Given the description of an element on the screen output the (x, y) to click on. 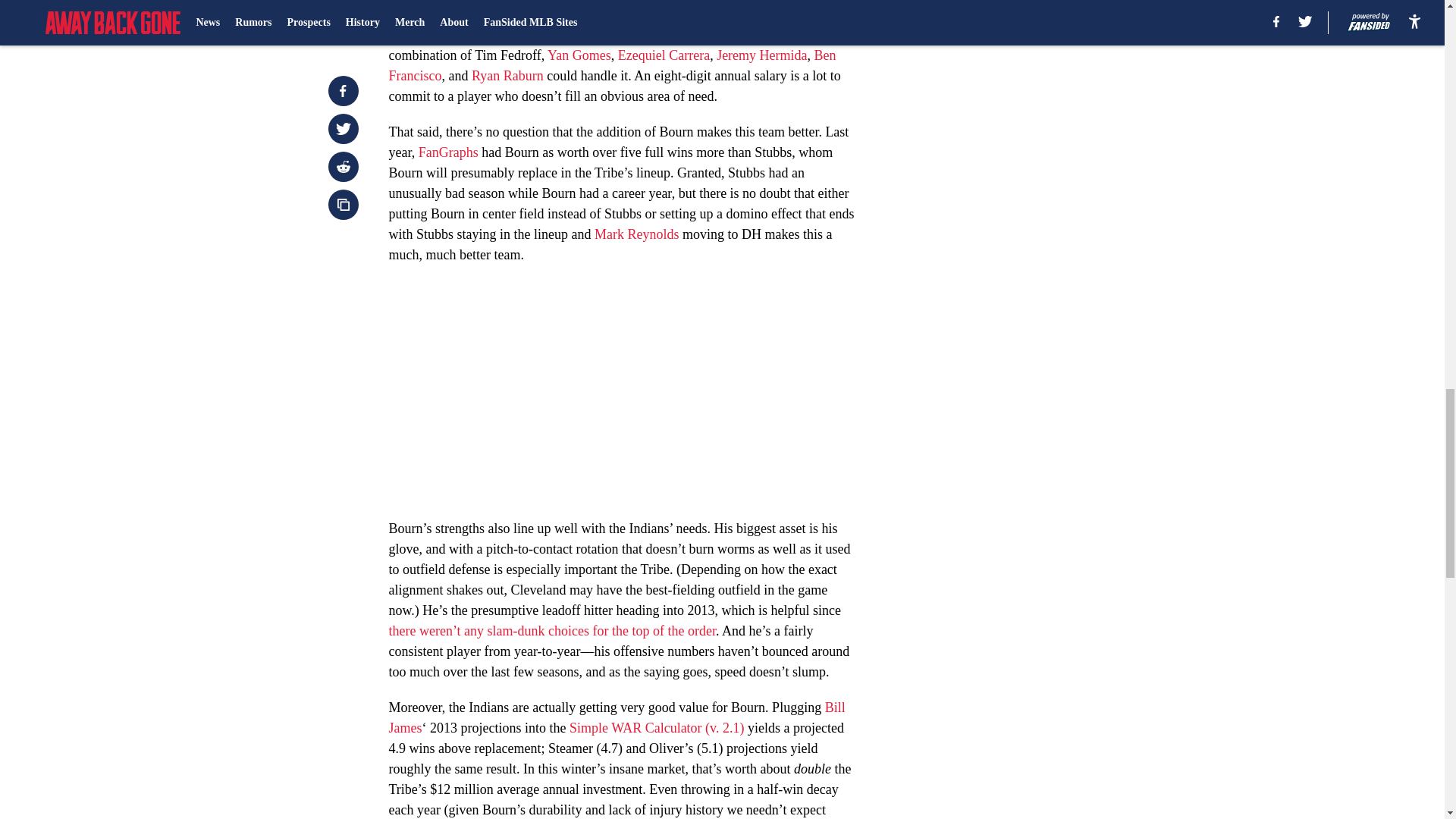
Drew Stubbs (488, 34)
FanGraphs (449, 151)
Ben Francisco (611, 65)
Ezequiel Carrera (663, 55)
Yan Gomes (579, 55)
Jeremy Hermida (761, 55)
Ryan Raburn (507, 75)
Bill James (616, 717)
Mark Reynolds (636, 233)
Nick Swisher (548, 14)
Michael Brantley (435, 14)
